Given the description of an element on the screen output the (x, y) to click on. 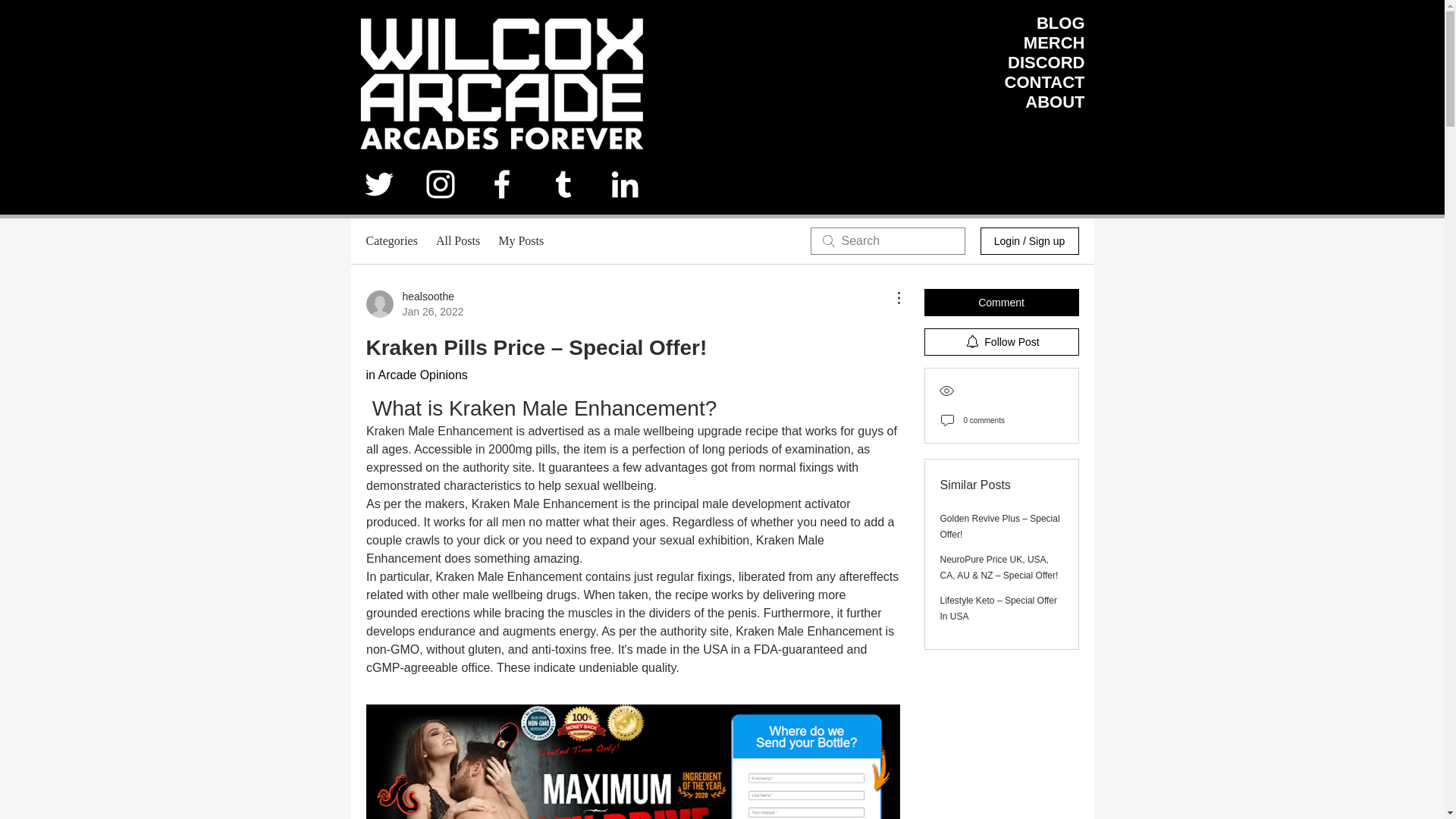
BLOG (414, 304)
MERCH (1060, 22)
My Posts (1053, 42)
ABOUT (520, 240)
Categories (1054, 101)
Facebook Like (390, 240)
CONTACT (1038, 189)
DISCORD (1044, 81)
All Posts (1045, 62)
in Arcade Opinions (457, 240)
